Given the description of an element on the screen output the (x, y) to click on. 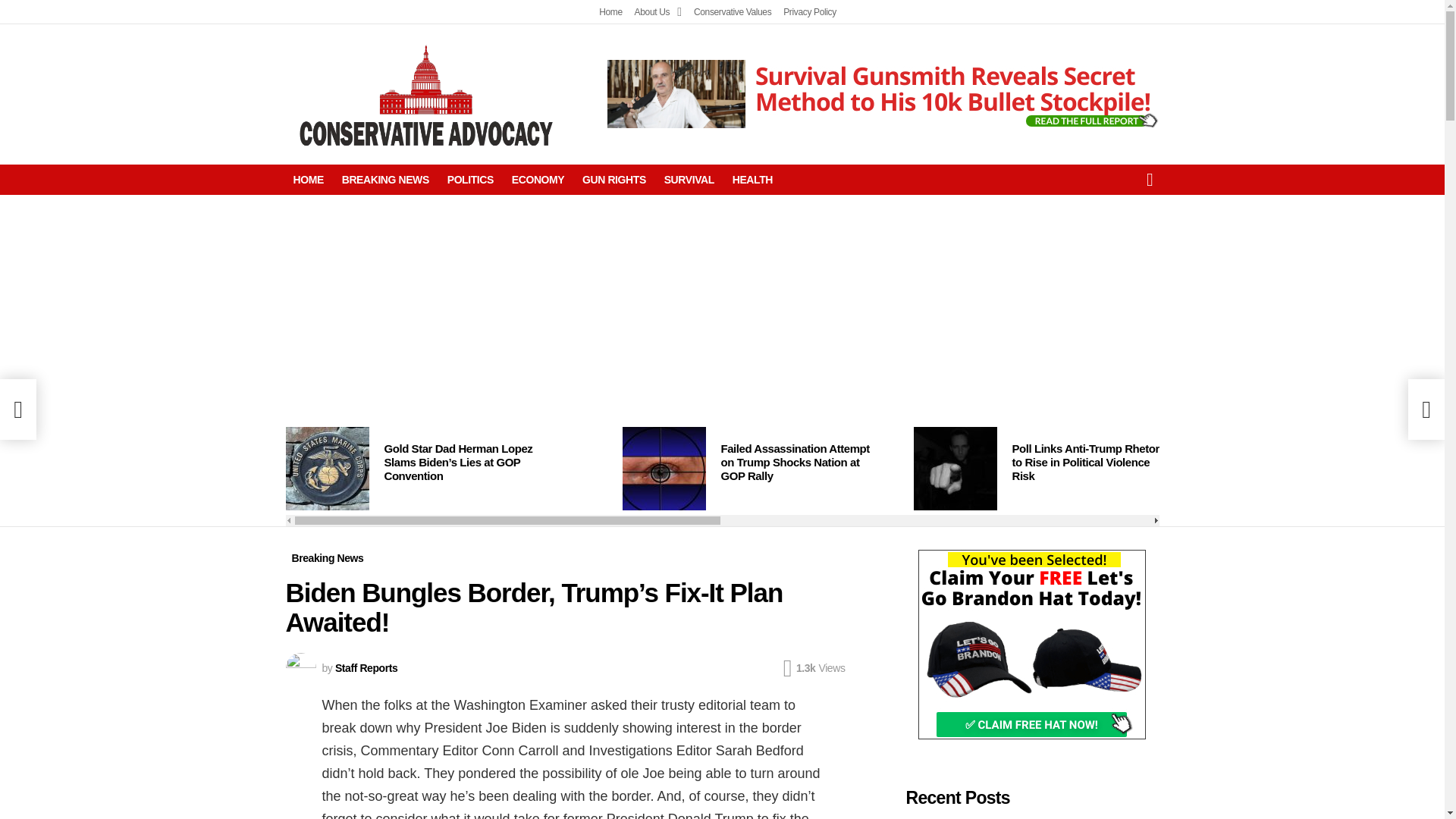
GUN RIGHTS (614, 179)
BREAKING NEWS (385, 179)
HOME (307, 179)
About Us (657, 12)
POLITICS (469, 179)
ECONOMY (537, 179)
Posts by Staff Reports (365, 667)
Conservative Values (732, 12)
HEALTH (752, 179)
